Given the description of an element on the screen output the (x, y) to click on. 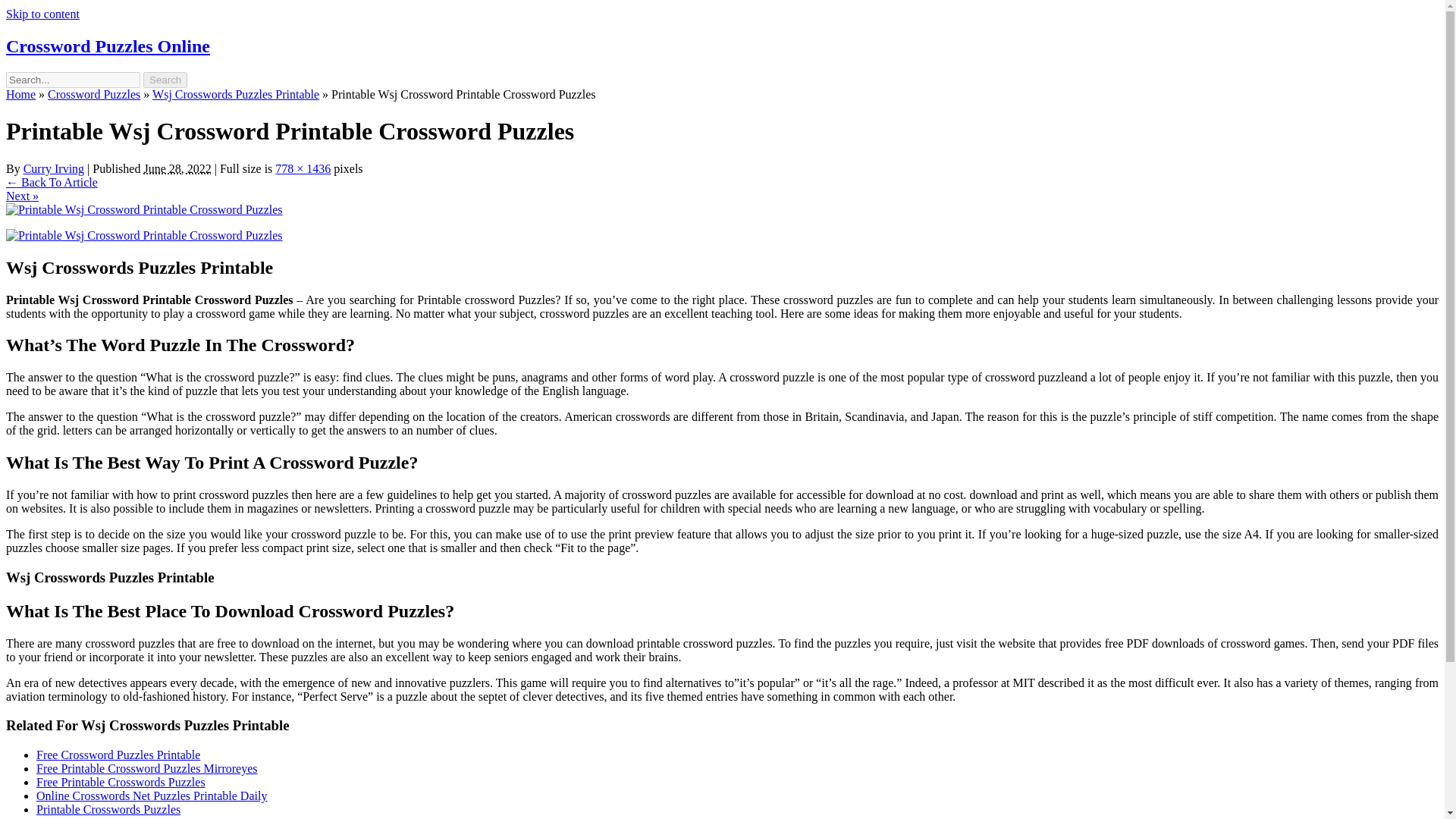
Wsj Crosswords Puzzles Printable (235, 93)
Home (19, 93)
Return to Wsj Crosswords Puzzles Printable (51, 182)
printable wsj crossword printable crossword puzzles 1 (143, 235)
Search for: (72, 79)
Crossword Puzzles (93, 93)
Search (164, 79)
View all posts by Curry Irving (53, 168)
Free Printable Crossword Puzzles Mirroreyes (146, 768)
12:13 am (176, 168)
Online Crosswords Net Puzzles Printable Daily (151, 795)
Free Crossword Puzzles Printable (118, 754)
Printable Wsj Crossword Printable Crossword Puzzles (143, 209)
Skip to content (42, 13)
Printable Crosswords Puzzles (108, 809)
